Given the description of an element on the screen output the (x, y) to click on. 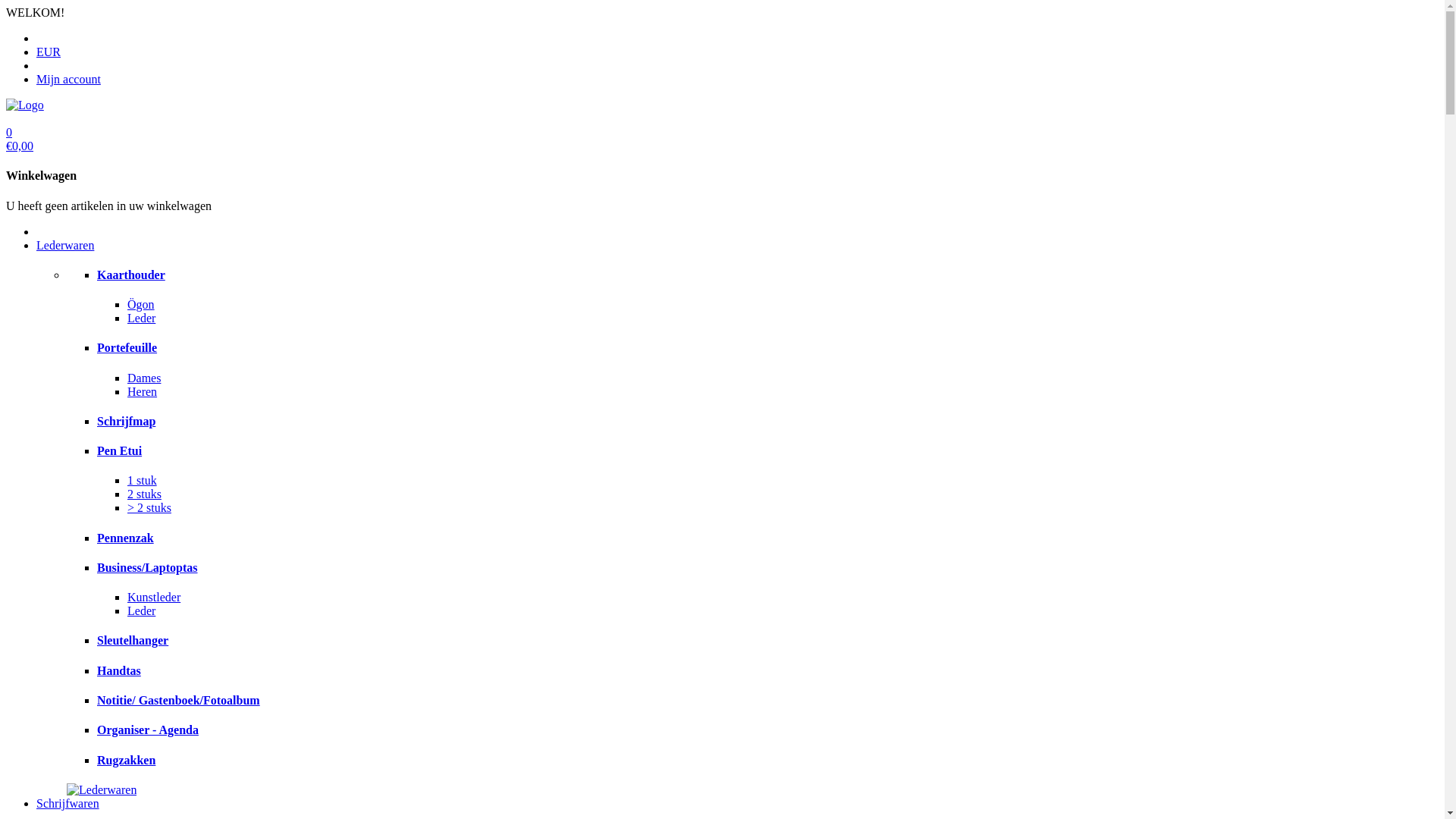
Sleutelhanger Element type: text (132, 639)
Rugzakken Element type: text (126, 759)
Mijn account Element type: text (68, 78)
Business/Laptoptas Element type: text (147, 567)
2 stuks Element type: text (144, 493)
Organiser - Agenda Element type: text (147, 729)
Lederwaren Element type: text (65, 244)
Handtas Element type: text (119, 670)
Dames Element type: text (143, 377)
Schrijfmap Element type: text (126, 420)
1 stuk Element type: text (141, 479)
Kunstleder Element type: text (153, 596)
Leder Element type: text (141, 610)
EUR Element type: text (48, 51)
Leder Element type: text (141, 317)
Notitie/ Gastenboek/Fotoalbum Element type: text (178, 699)
Pen Etui Element type: text (119, 450)
Heren Element type: text (141, 391)
Schrijfwaren Element type: text (67, 803)
Portefeuille Element type: text (126, 347)
Kaarthouder Element type: text (131, 274)
Pennenzak Element type: text (125, 537)
> 2 stuks Element type: text (149, 507)
